Given the description of an element on the screen output the (x, y) to click on. 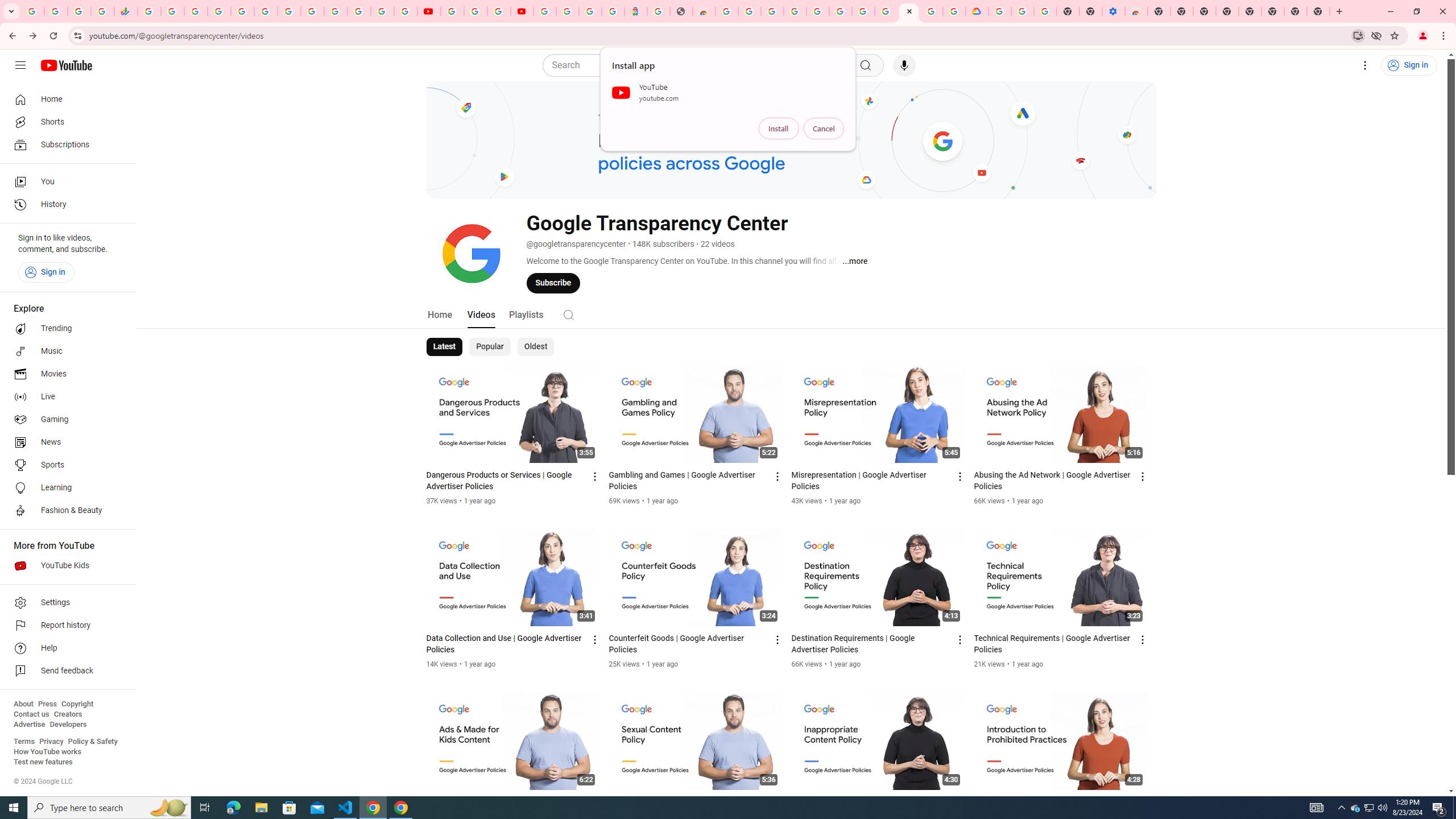
Sign in - Google Accounts (381, 11)
Creators (67, 714)
Browse the Google Chrome Community - Google Chrome Community (954, 11)
Subscriptions (64, 144)
Create your Google Account (749, 11)
Atour Hotel - Google hotels (635, 11)
Sign in - Google Accounts (545, 11)
YouTube (451, 11)
Ad Settings (794, 11)
Music (64, 350)
